Given the description of an element on the screen output the (x, y) to click on. 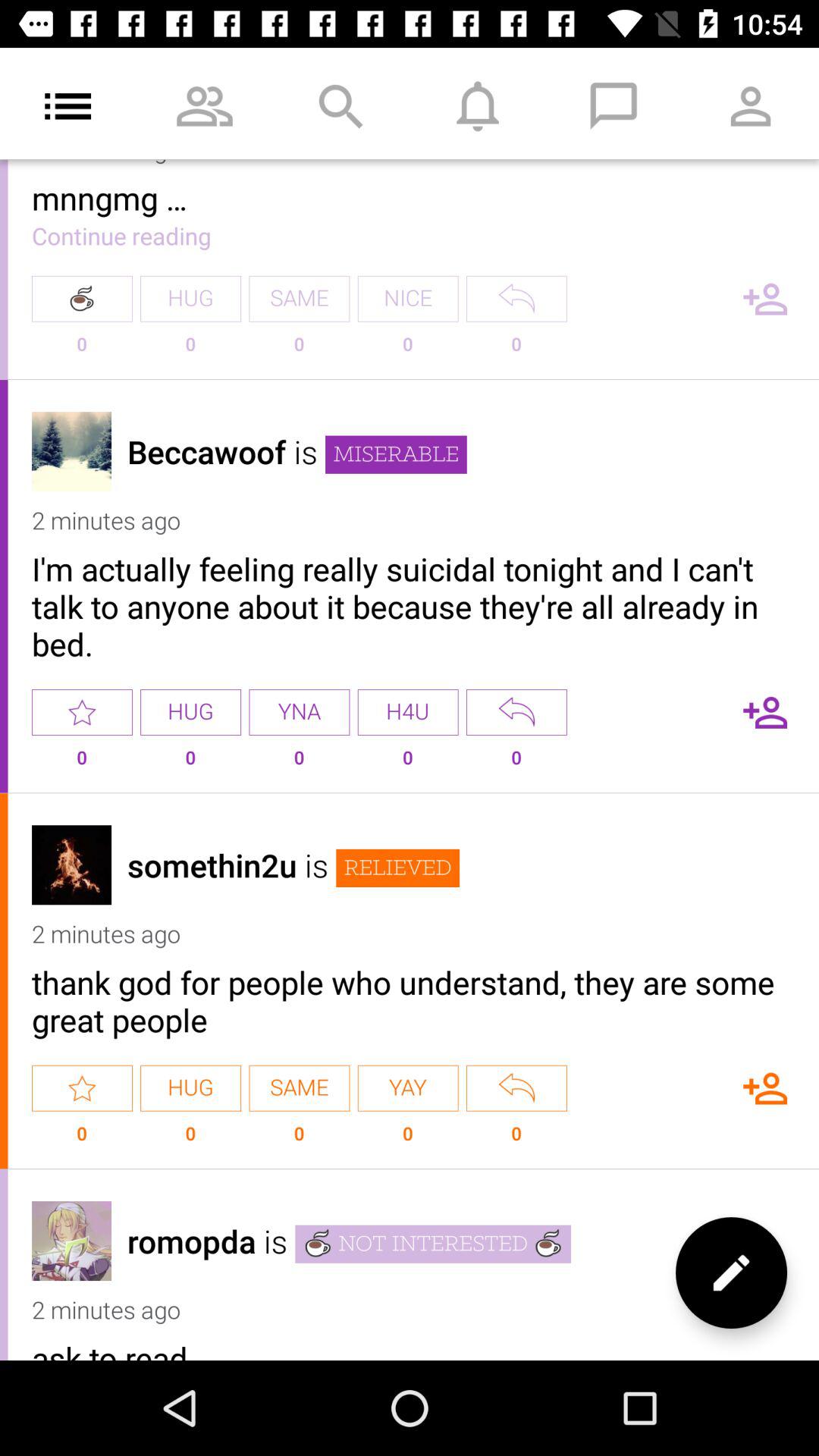
view profile (71, 1240)
